Given the description of an element on the screen output the (x, y) to click on. 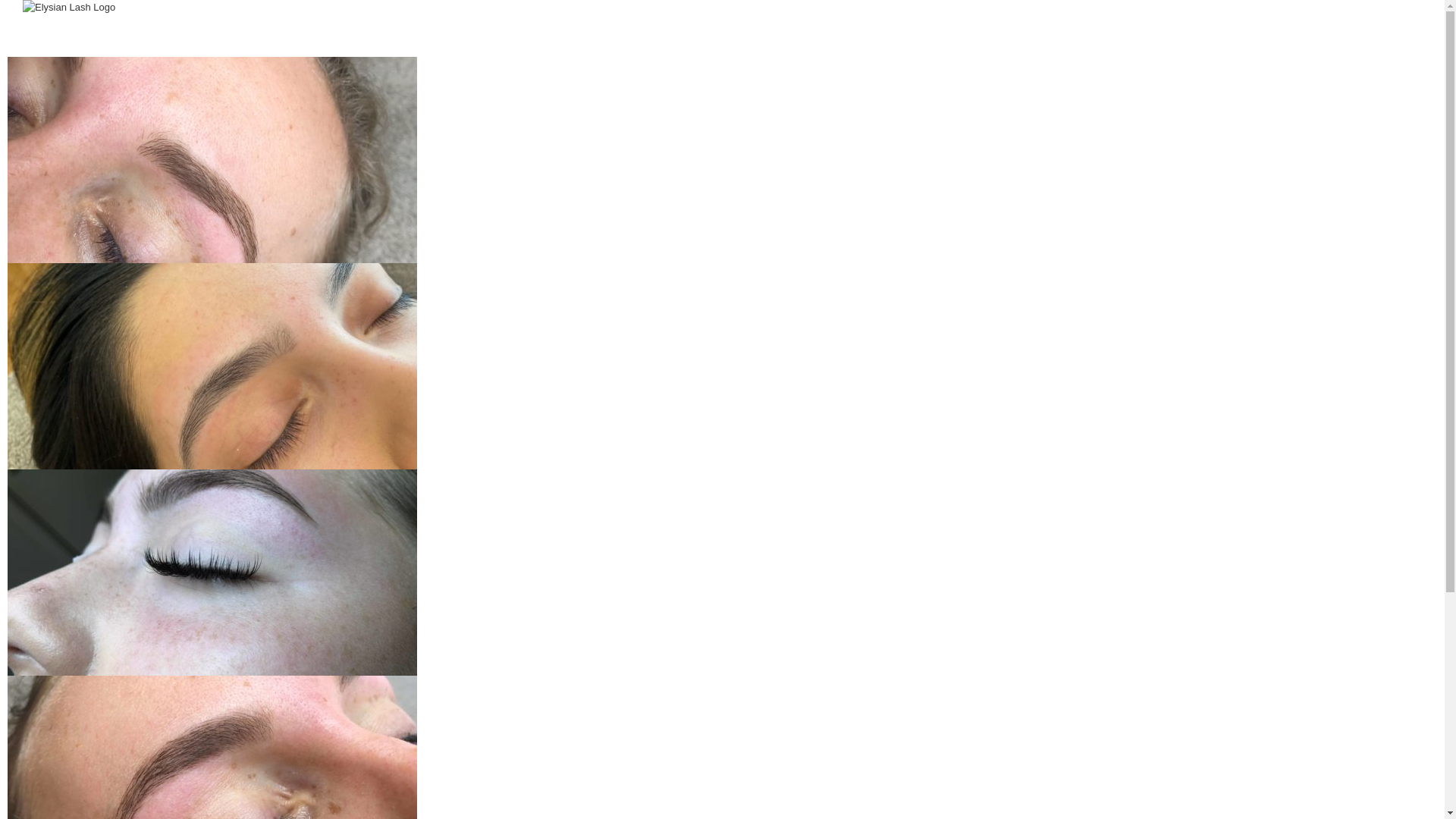
Instagram Element type: hover (728, 584)
Facebook Element type: hover (716, 584)
hello@elysianlash.com.au Element type: text (737, 524)
